Given the description of an element on the screen output the (x, y) to click on. 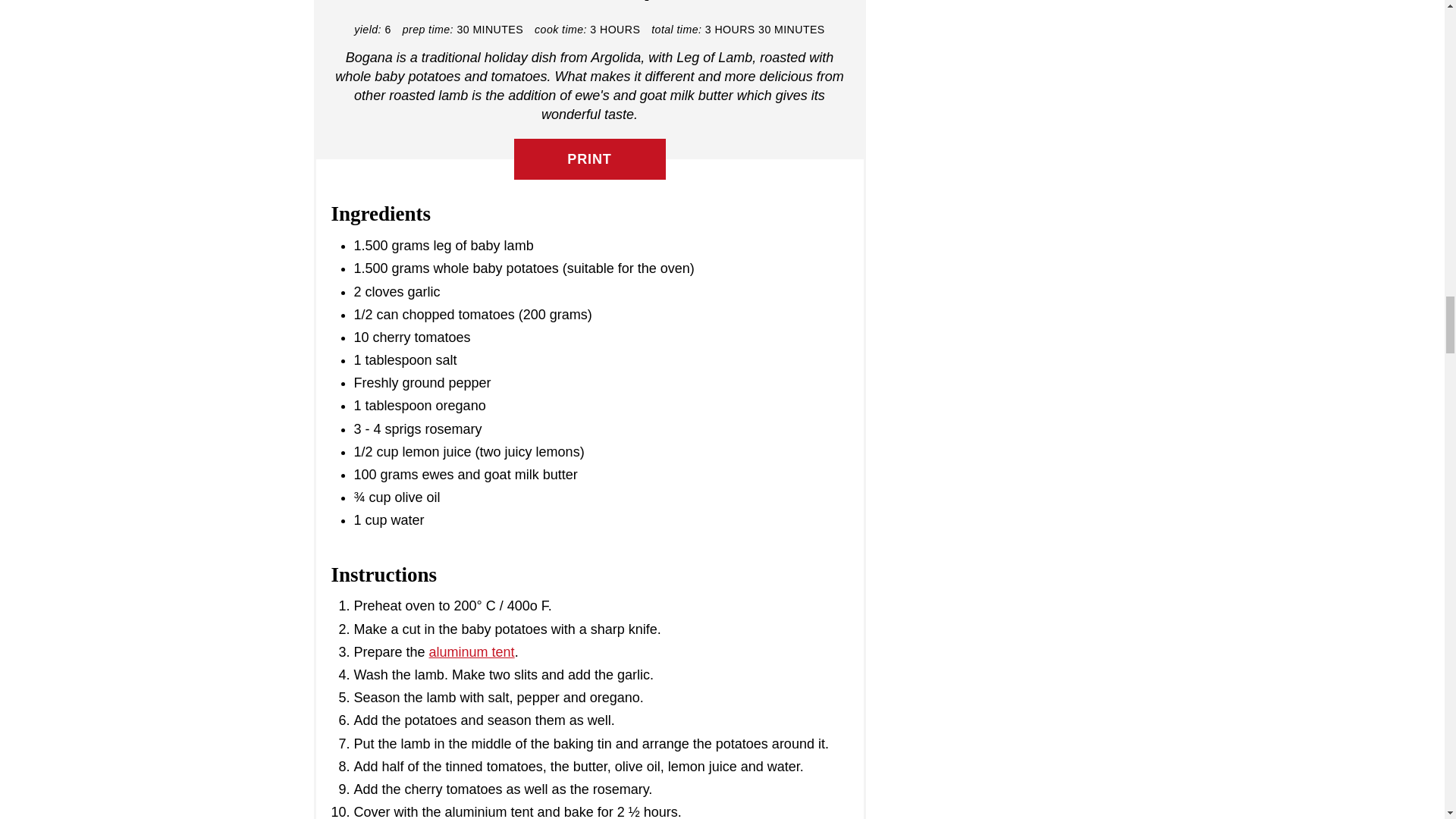
PRINT (589, 158)
aluminum tent (472, 652)
